Given the description of an element on the screen output the (x, y) to click on. 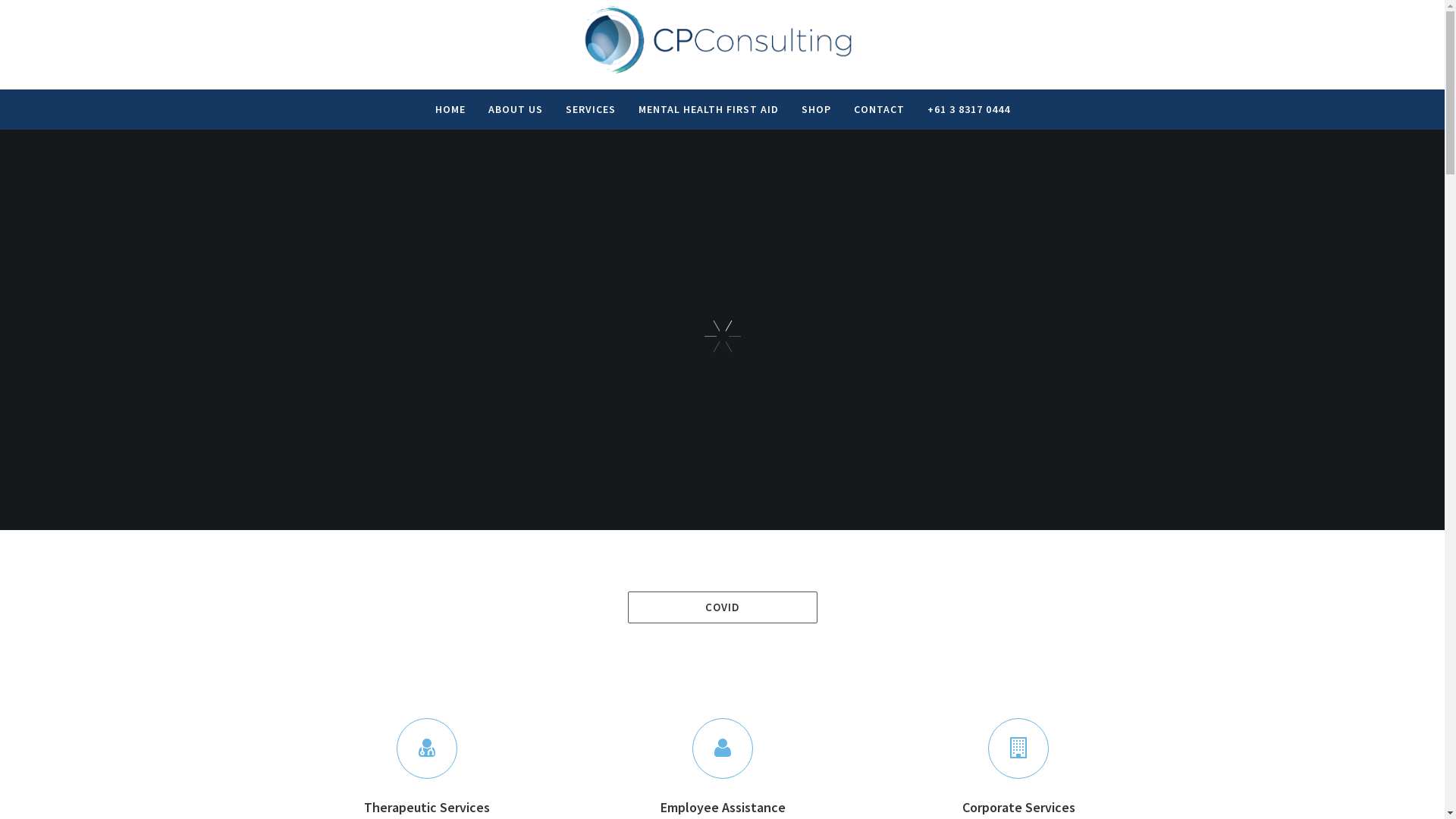
CONTACT Element type: text (878, 110)
MENTAL HEALTH FIRST AID Element type: text (707, 110)
+61 3 8317 0444 Element type: text (968, 110)
HOME Element type: text (449, 110)
COVID Element type: text (722, 607)
SERVICES Element type: text (589, 110)
ABOUT US Element type: text (514, 110)
SHOP Element type: text (816, 110)
